Given the description of an element on the screen output the (x, y) to click on. 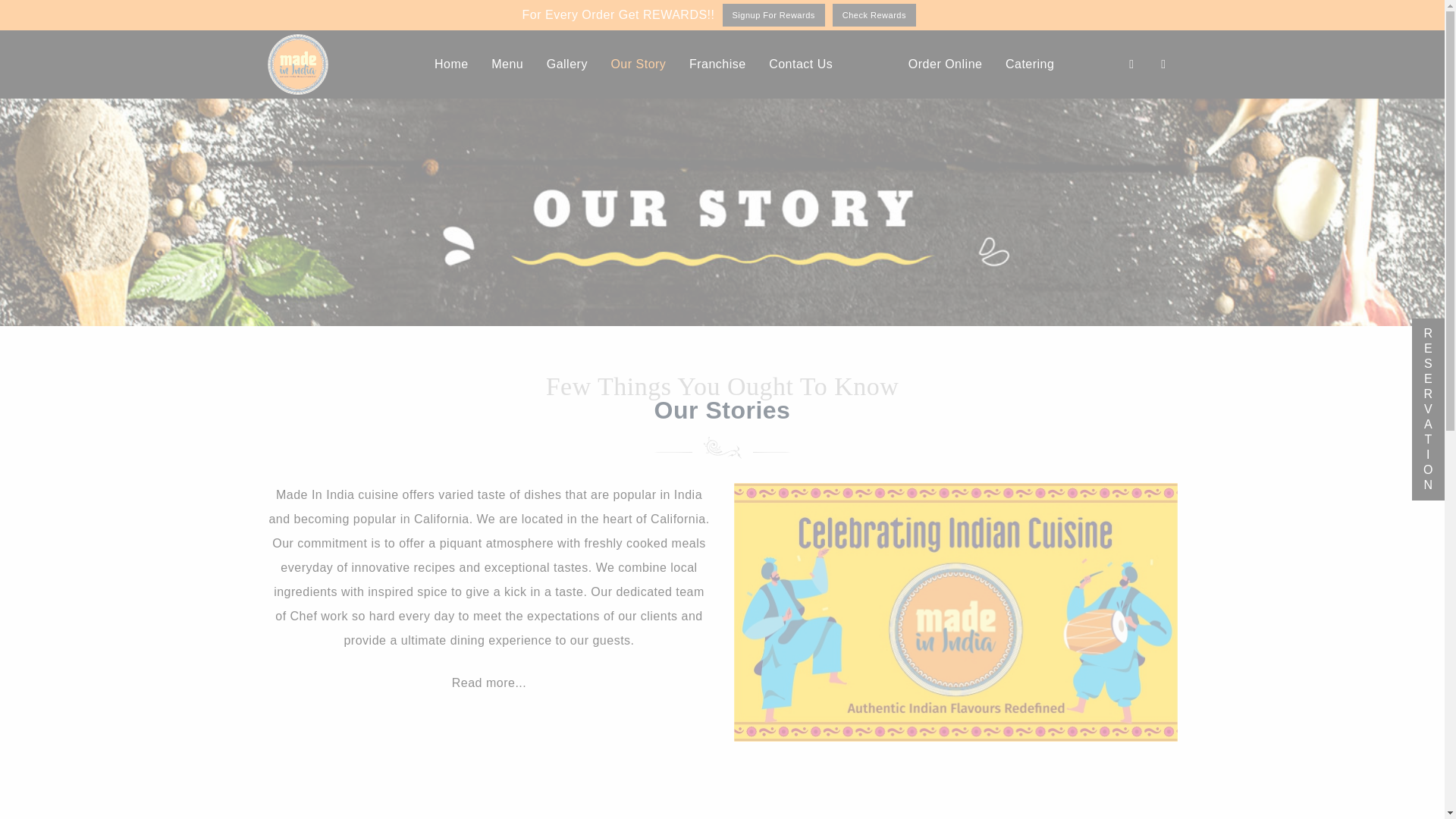
Story Banner (955, 612)
Signup For Rewards (773, 15)
Facebook (1163, 63)
Menu (507, 64)
Our Story (637, 64)
Franchise (717, 64)
Order Online (945, 64)
Contact Us (800, 64)
Gallery (566, 64)
Home (451, 64)
Check Rewards (873, 15)
Twitter (1131, 63)
Facebook (1163, 63)
flower-decor-2 (722, 447)
Catering (1029, 64)
